Given the description of an element on the screen output the (x, y) to click on. 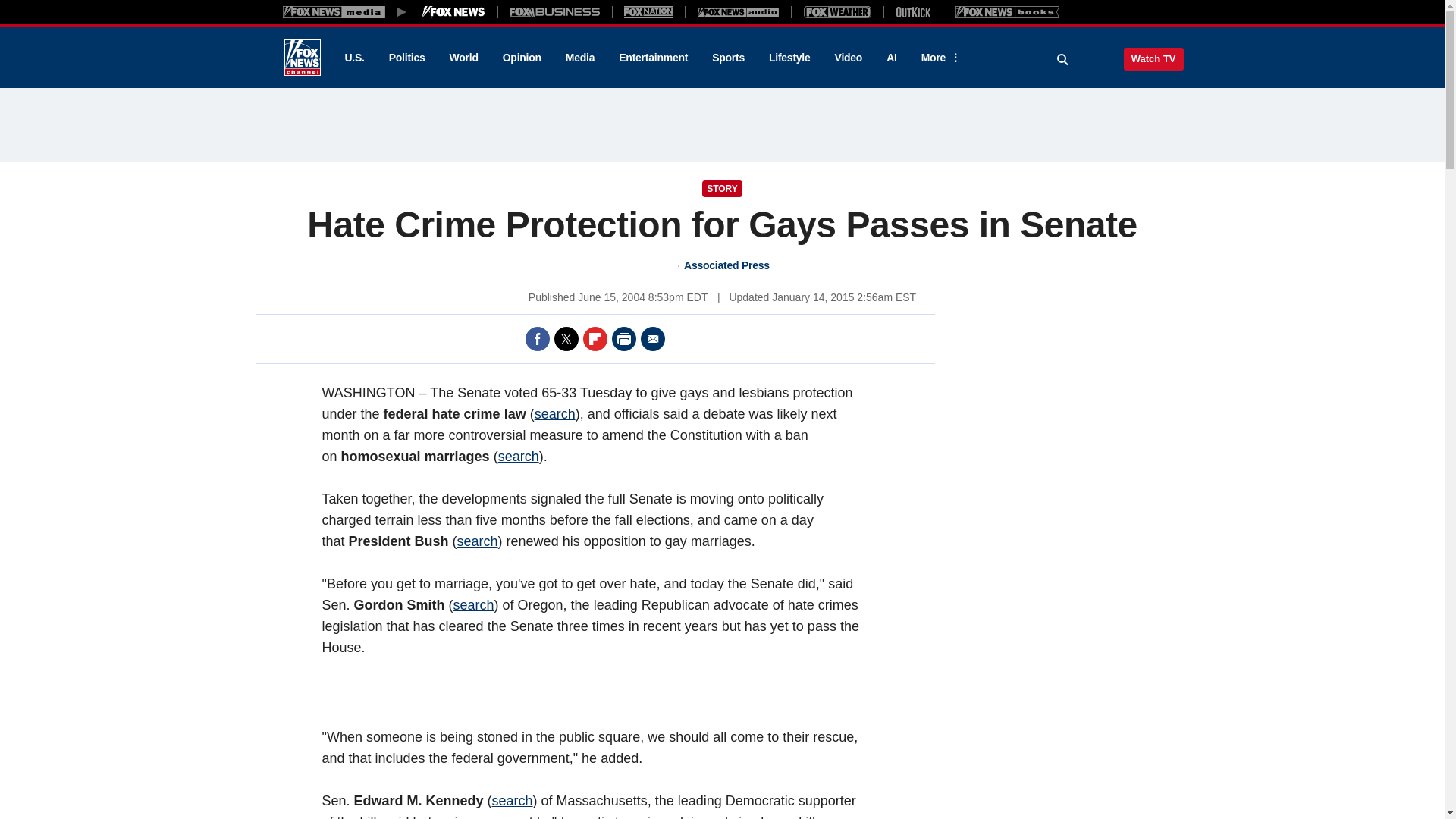
Politics (407, 57)
Books (1007, 11)
World (464, 57)
Lifestyle (789, 57)
More (938, 57)
Fox Nation (648, 11)
Outkick (912, 11)
Media (580, 57)
Fox News (301, 57)
Fox Business (554, 11)
